Given the description of an element on the screen output the (x, y) to click on. 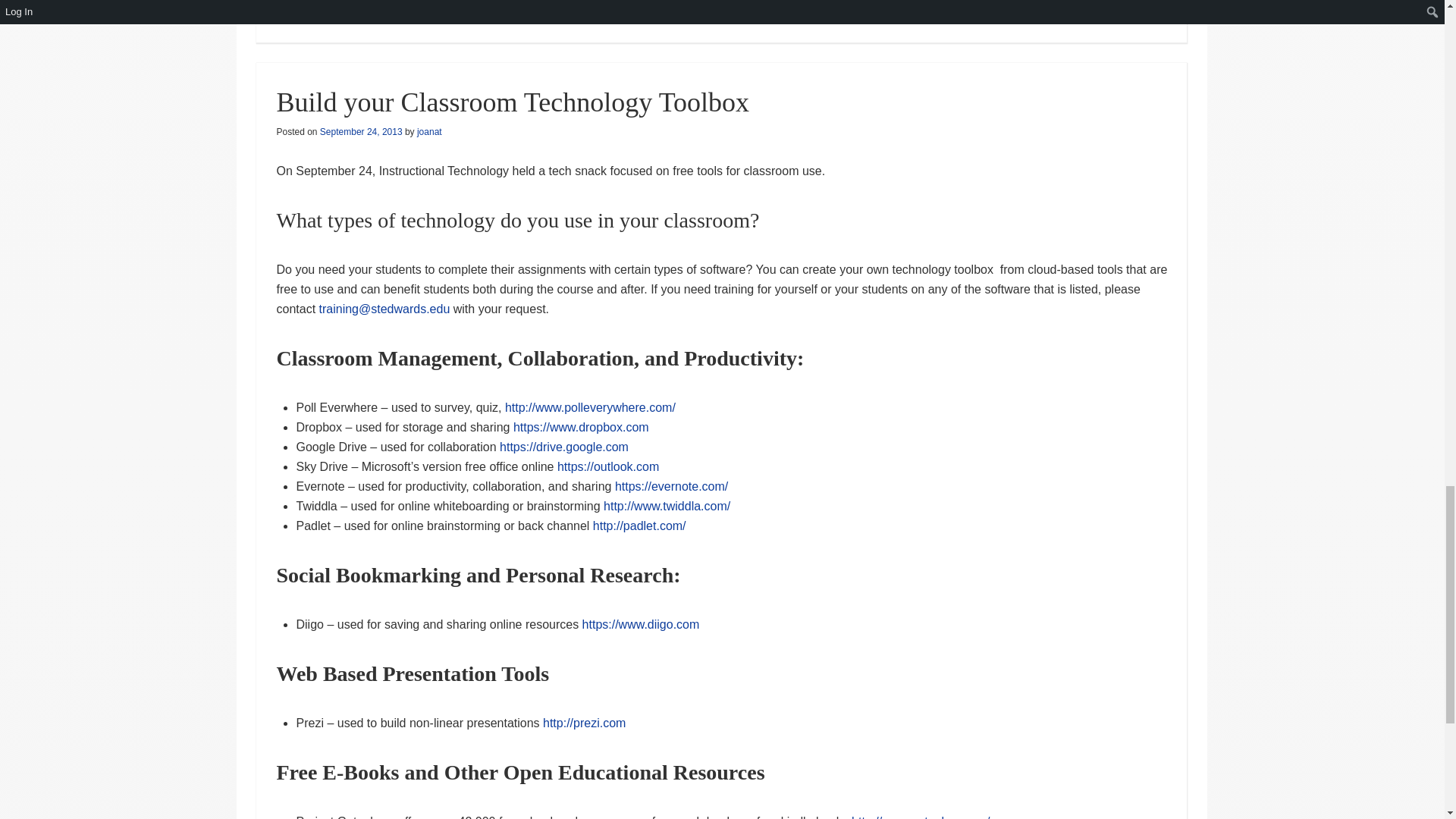
11:52 am (361, 131)
View all posts by joanat (429, 131)
